Given the description of an element on the screen output the (x, y) to click on. 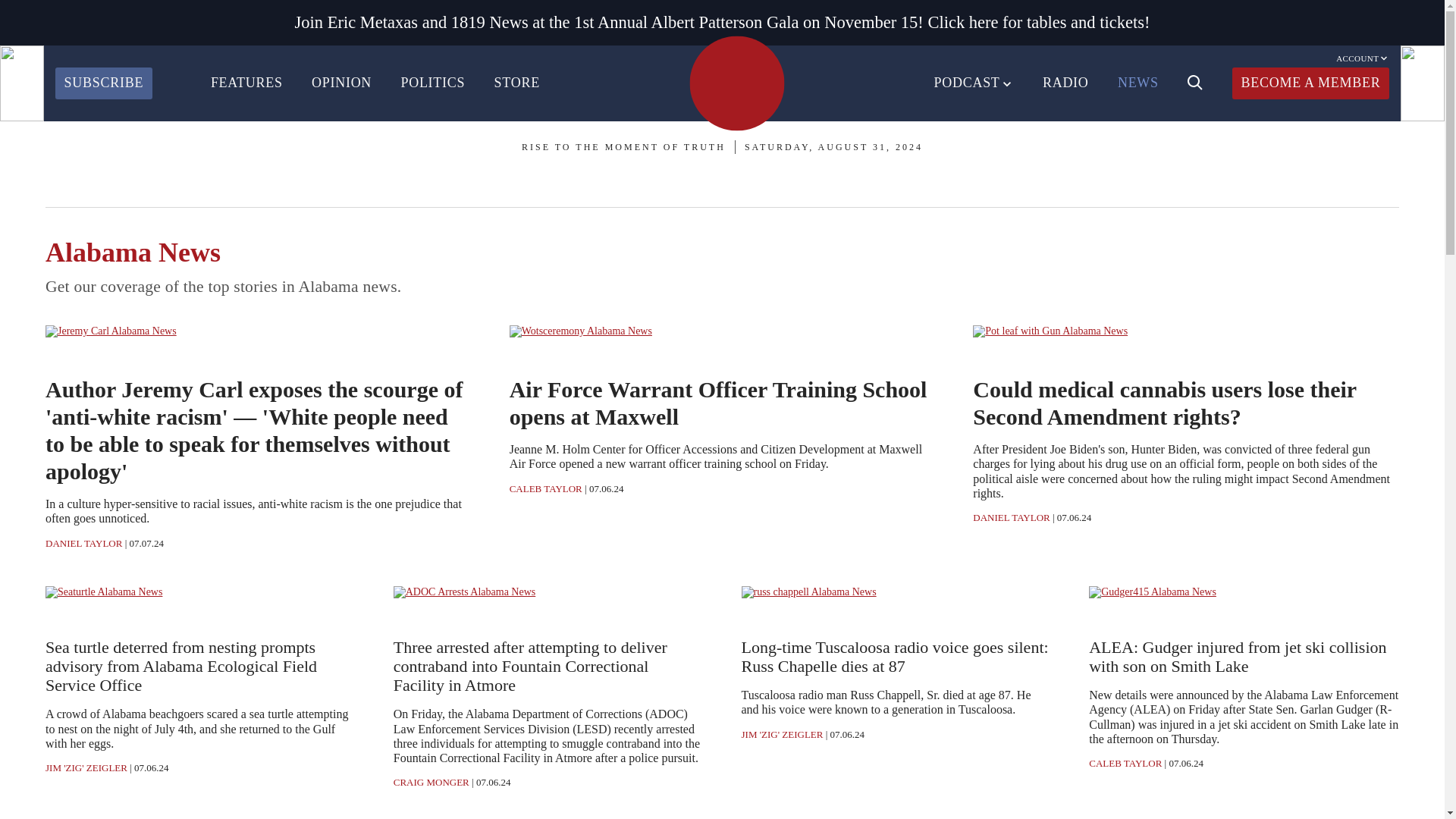
SUBSCRIBE (103, 83)
RADIO (1065, 83)
BECOME A MEMBER (1310, 83)
STORE (517, 83)
OPINION (341, 83)
NEWS (1138, 83)
PODCAST (973, 83)
News (64, 354)
HOMEPAGE (736, 83)
FEATURES (246, 83)
